Given the description of an element on the screen output the (x, y) to click on. 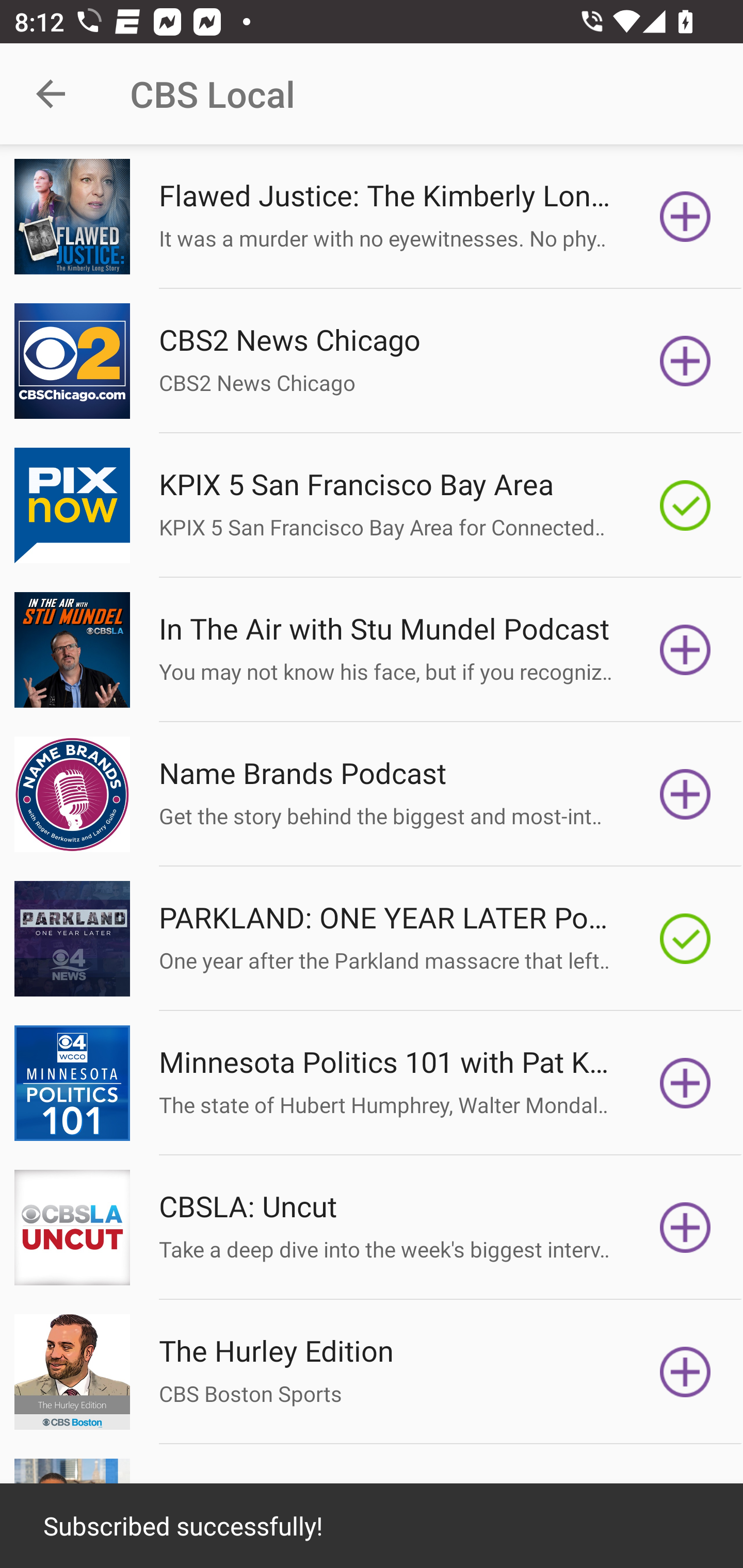
Navigate up (50, 93)
Subscribe (685, 216)
Subscribe (685, 360)
Subscribed (685, 505)
Subscribe (685, 649)
Subscribe (685, 793)
Subscribed (685, 939)
Subscribe (685, 1083)
Subscribe (685, 1227)
Subscribe (685, 1371)
Subscribed successfully! (371, 1525)
